Given the description of an element on the screen output the (x, y) to click on. 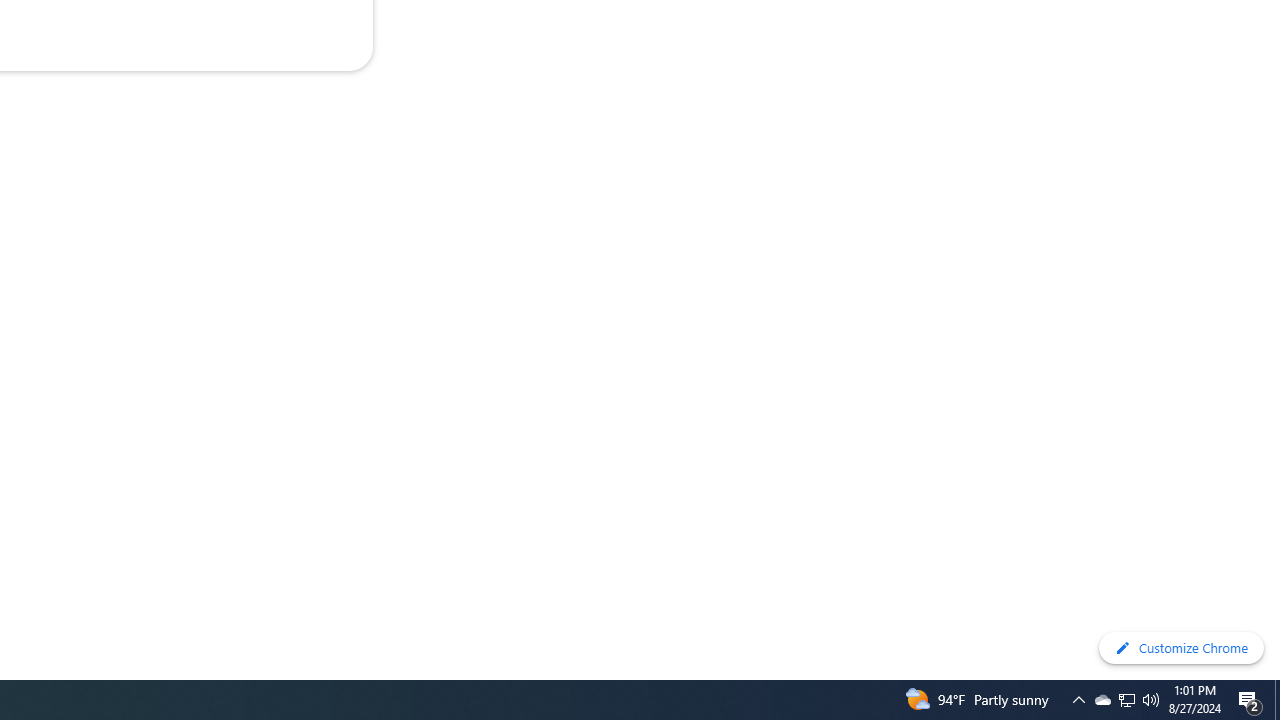
Customize Chrome (1181, 647)
